Given the description of an element on the screen output the (x, y) to click on. 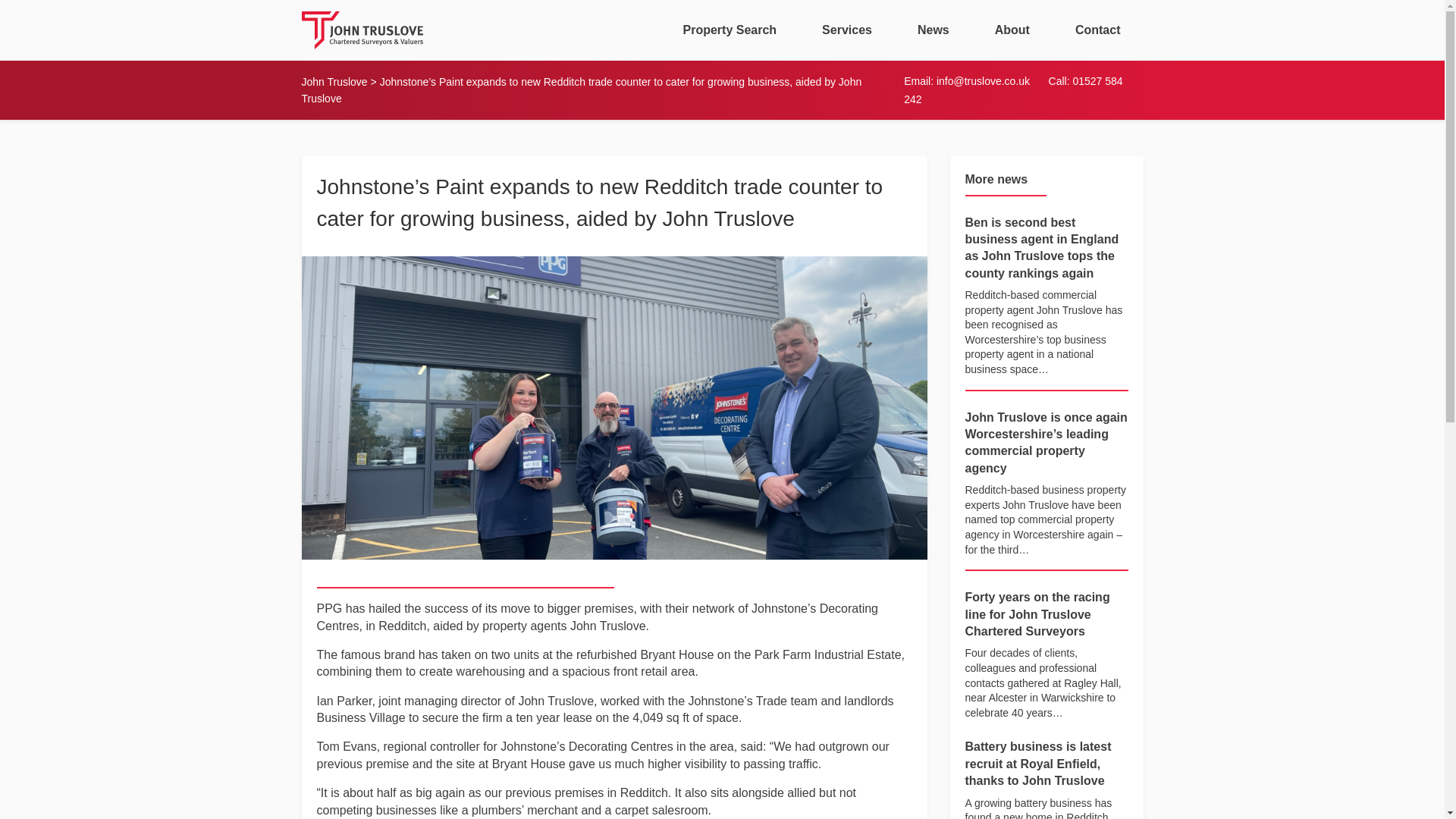
John Truslove (334, 81)
Services (846, 29)
Call: 01527 584 242 (1013, 91)
News (933, 29)
Contact (1097, 29)
About (1011, 29)
Property Search (729, 29)
